Given the description of an element on the screen output the (x, y) to click on. 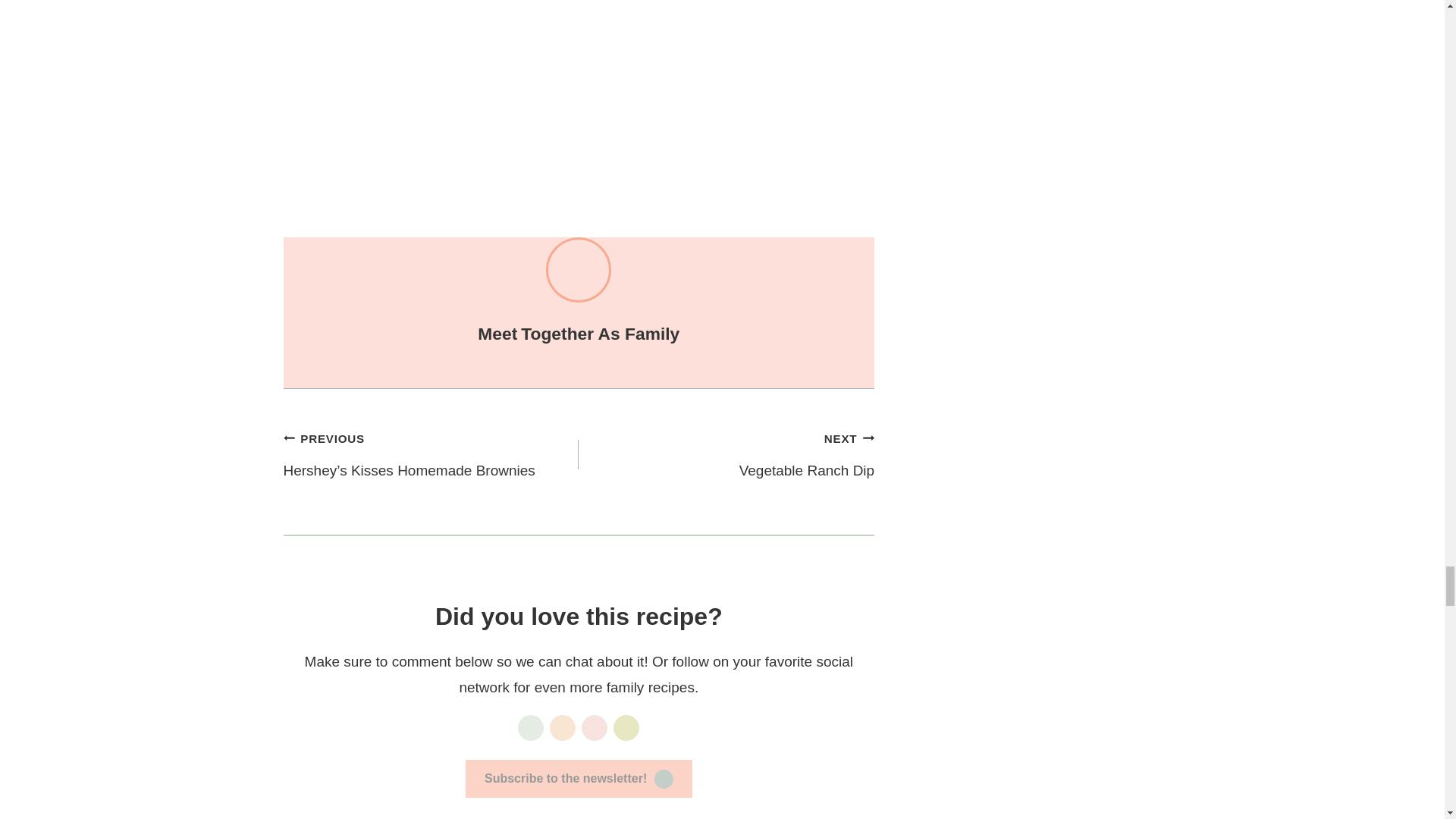
Posts by Together As Family (600, 333)
